Given the description of an element on the screen output the (x, y) to click on. 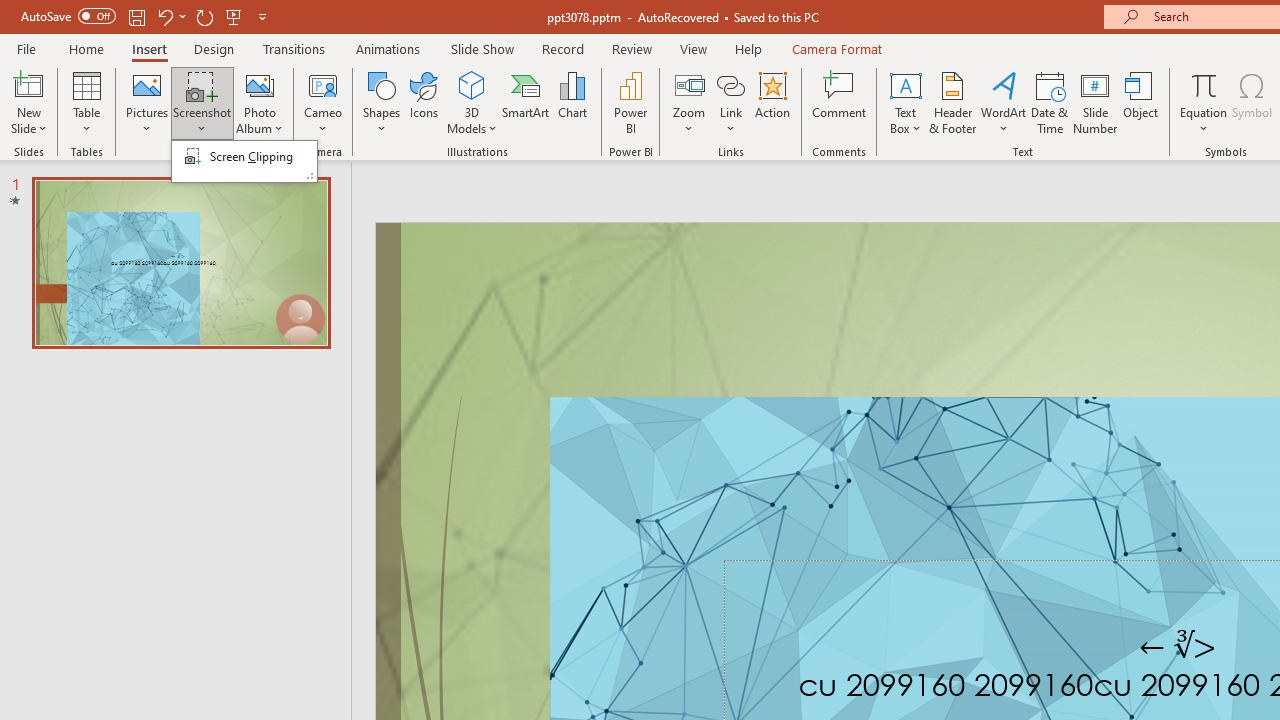
WordArt (1004, 102)
&Screenshot (244, 160)
Comment (839, 102)
Date & Time... (1050, 102)
New Photo Album... (259, 84)
Power BI (630, 102)
Table (86, 102)
